Given the description of an element on the screen output the (x, y) to click on. 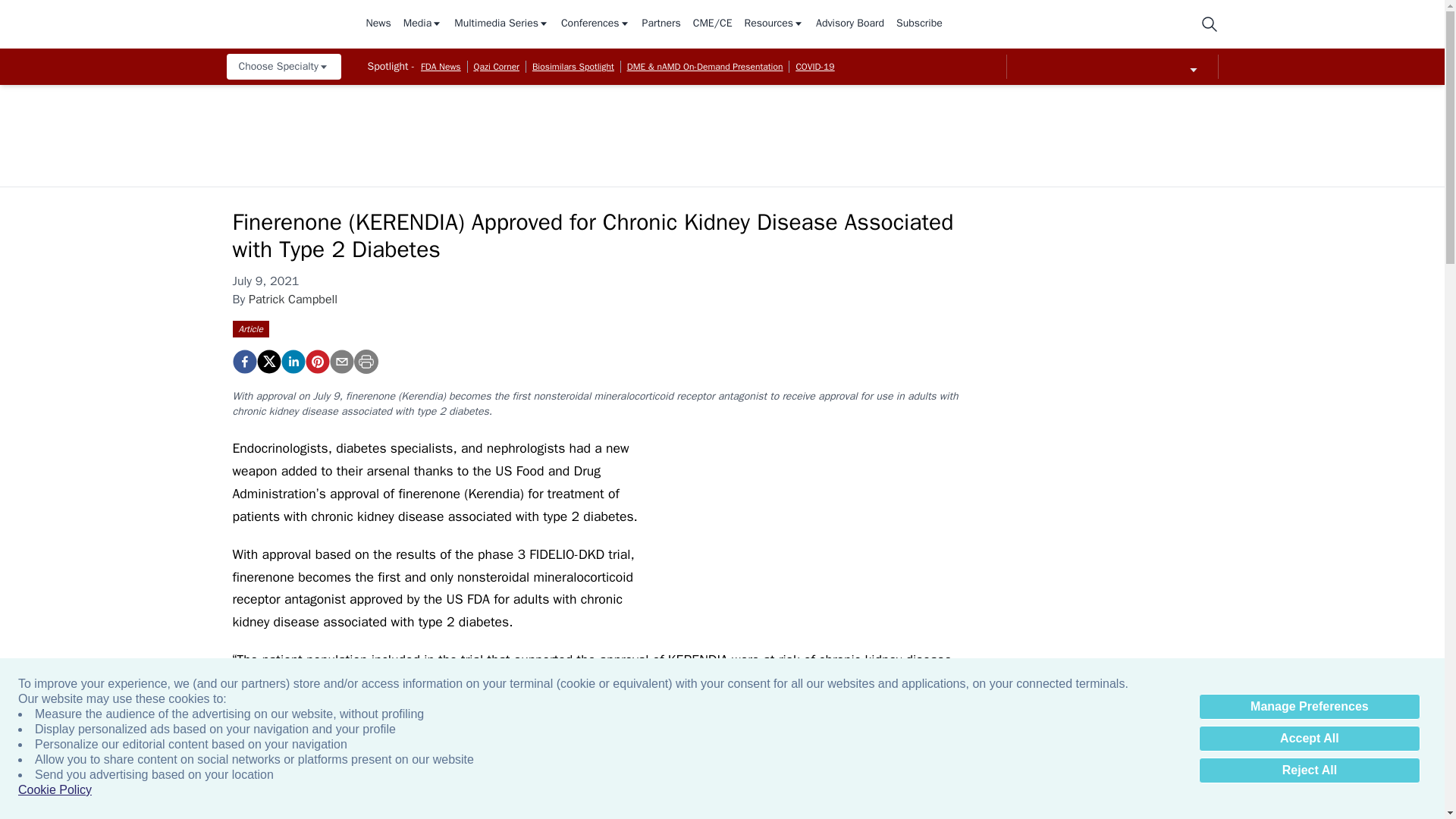
Cookie Policy (54, 789)
Conferences (595, 23)
Subscribe (919, 23)
Advisory Board (849, 23)
Partners (661, 23)
Choose Specialty (282, 66)
FDA logo (819, 522)
Multimedia Series (501, 23)
Accept All (1309, 738)
News (377, 23)
Resources (773, 23)
Media (422, 23)
Reject All (1309, 769)
Manage Preferences (1309, 706)
